Given the description of an element on the screen output the (x, y) to click on. 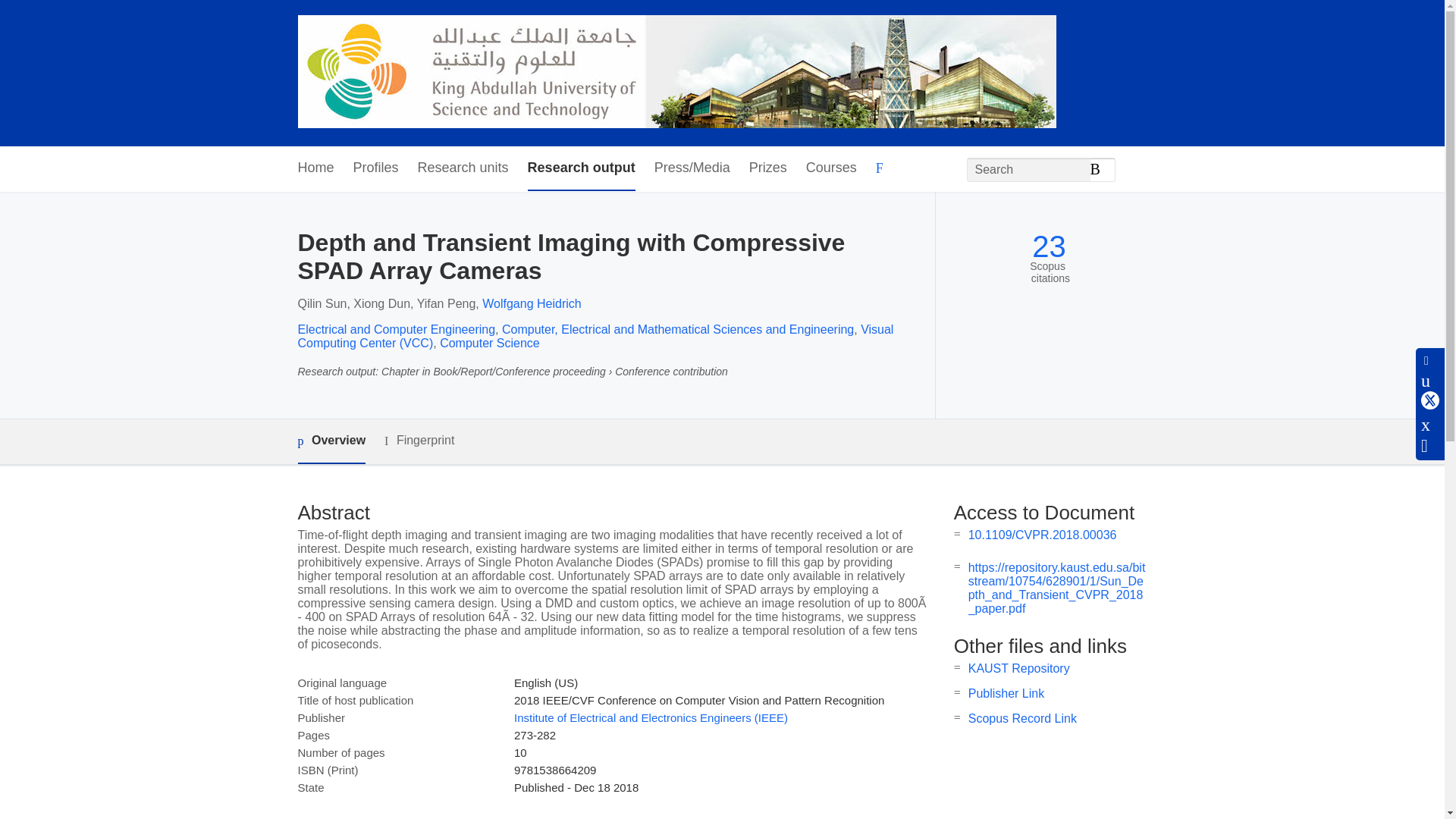
Wolfgang Heidrich (530, 303)
Research output (580, 168)
KAUST Repository (1019, 667)
Research units (462, 168)
Electrical and Computer Engineering (396, 328)
Courses (831, 168)
Profiles (375, 168)
Computer Science (489, 342)
Overview (331, 441)
